Given the description of an element on the screen output the (x, y) to click on. 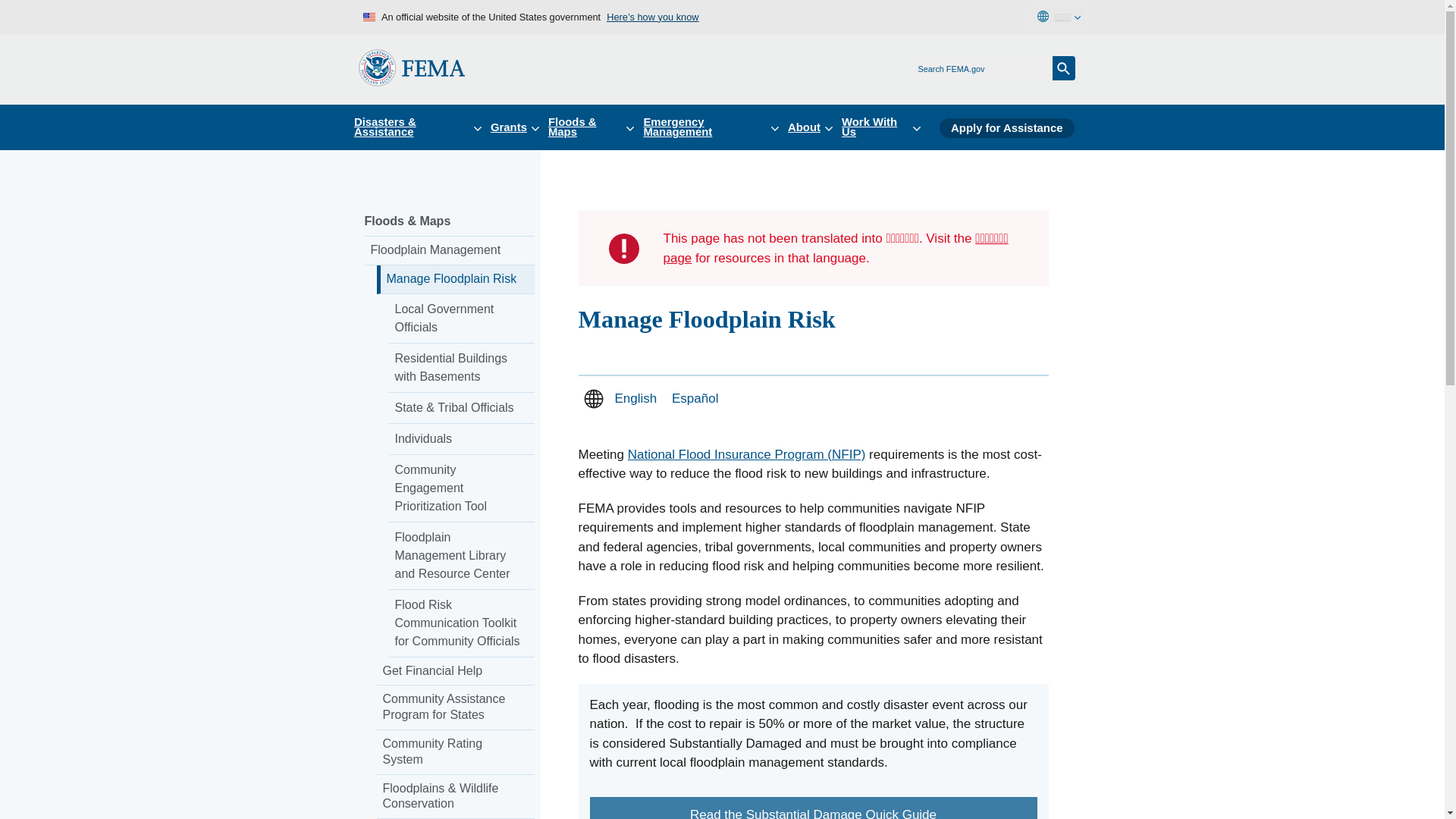
Apply for Assistance (1006, 127)
Emergency Management (715, 126)
Work With Us (885, 126)
Manage Floodplain Risk (454, 279)
Floodplain Management Library and Resource Center (461, 555)
Community Assistance Program for States (454, 707)
Local Government Officials (461, 318)
Get Financial Help (454, 671)
Floodplain Management (449, 250)
Search FEMA.gov (1063, 68)
Skip to main content (16, 16)
Community Rating System (454, 752)
About (814, 126)
Flood Risk Communication Toolkit for Community Officials (461, 623)
FEMA logo (411, 67)
